Given the description of an element on the screen output the (x, y) to click on. 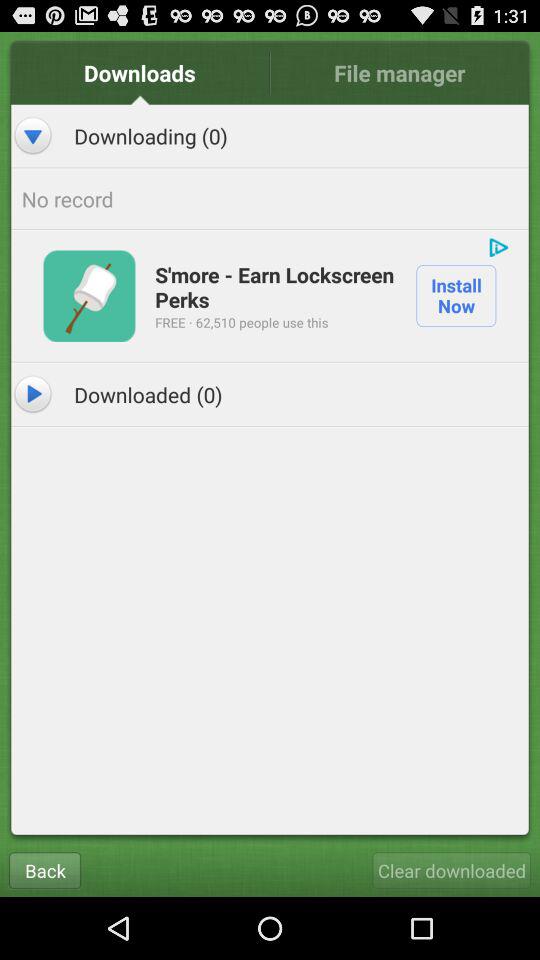
flip to the s more earn (275, 286)
